Given the description of an element on the screen output the (x, y) to click on. 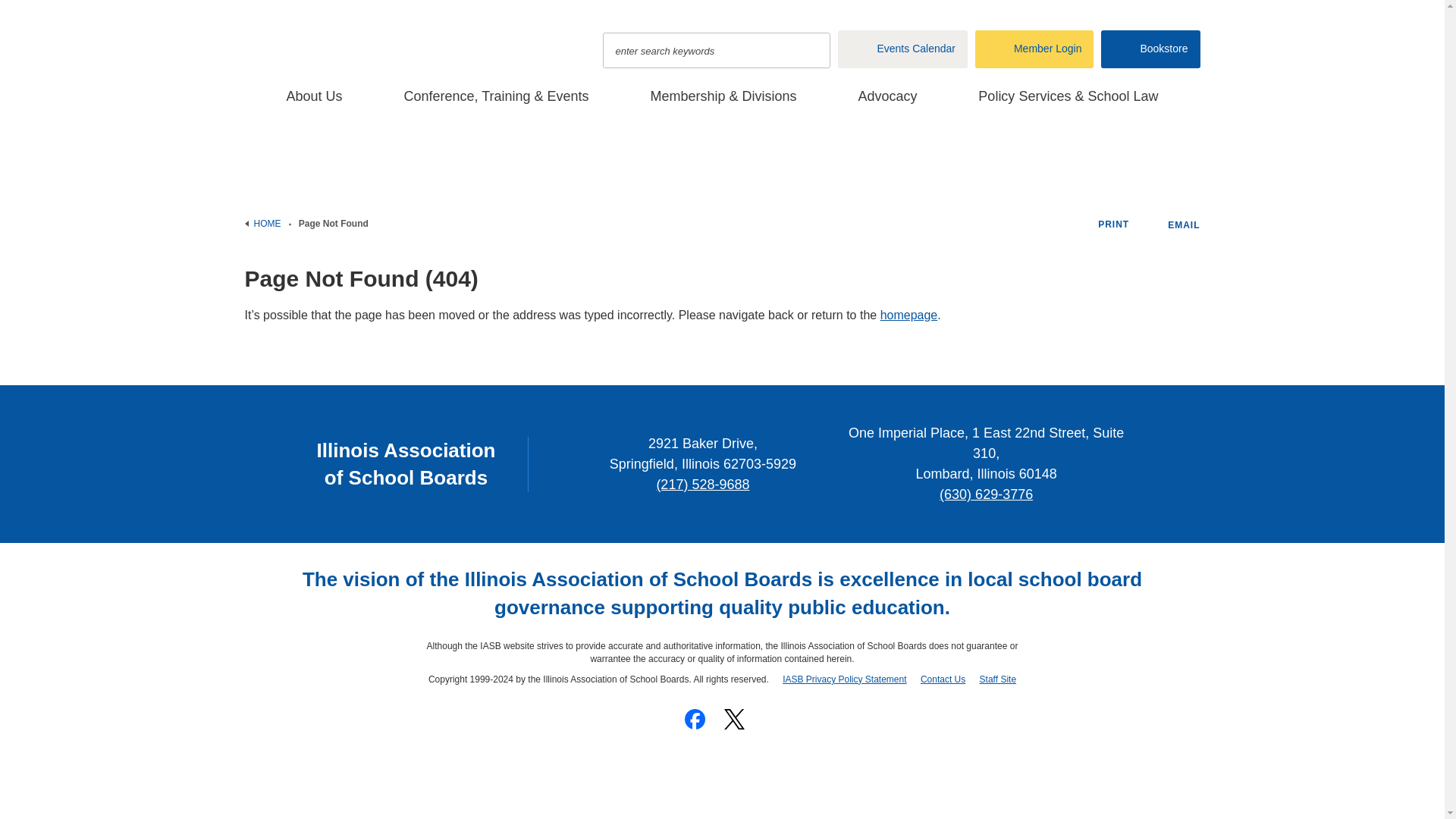
Submit search (810, 50)
About Us (314, 103)
Member Login (1034, 48)
Illinois Association of School Boards (388, 39)
Bookstore (1149, 48)
Events Calendar (903, 48)
